Given the description of an element on the screen output the (x, y) to click on. 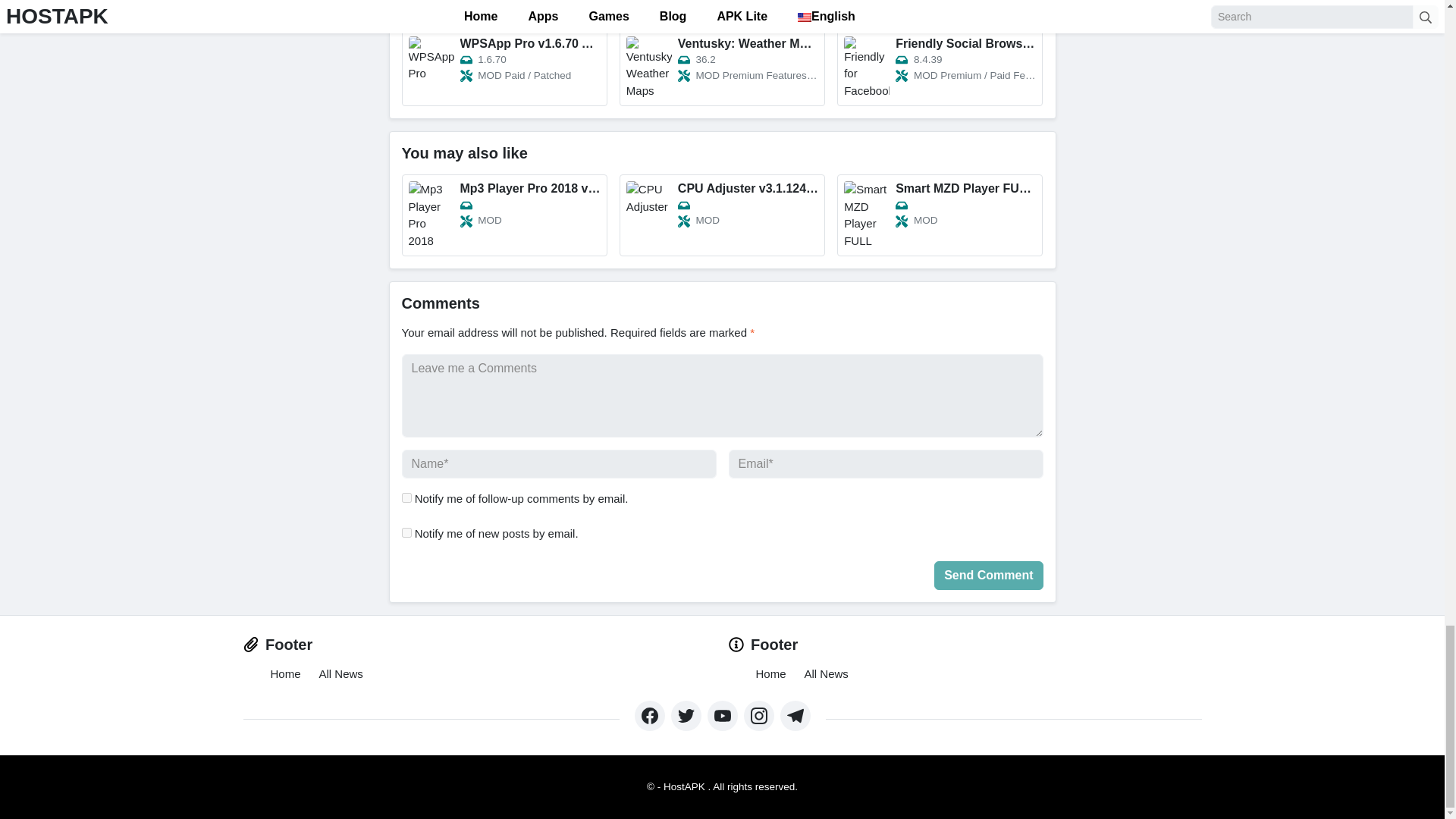
subscribe (406, 497)
Send Comment (988, 575)
subscribe (406, 532)
